Given the description of an element on the screen output the (x, y) to click on. 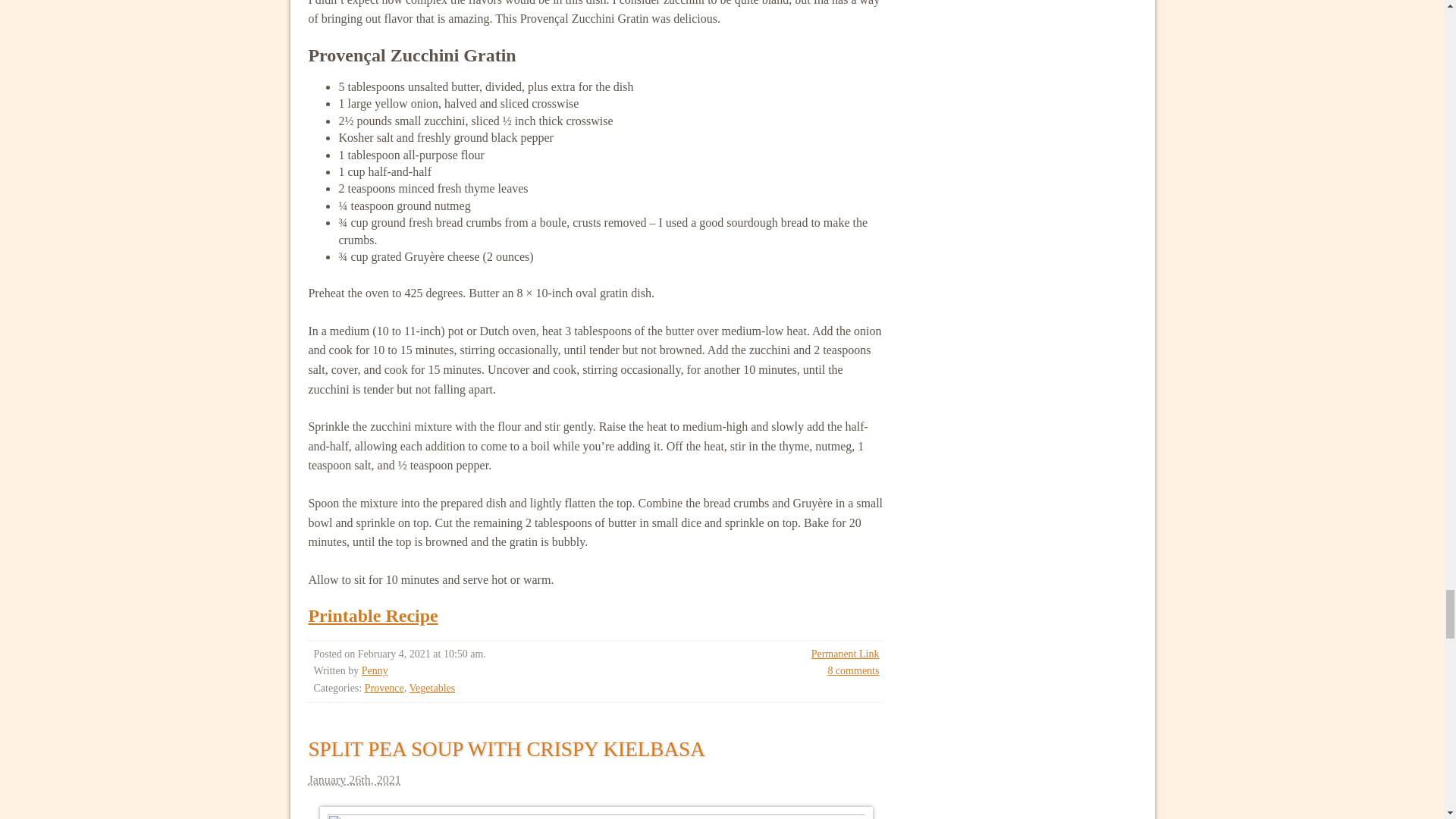
2021-01-26T09:09:43-05:00 (595, 780)
Permanent Link to Split Pea Soup with Crispy Kielbasa (505, 748)
